Given the description of an element on the screen output the (x, y) to click on. 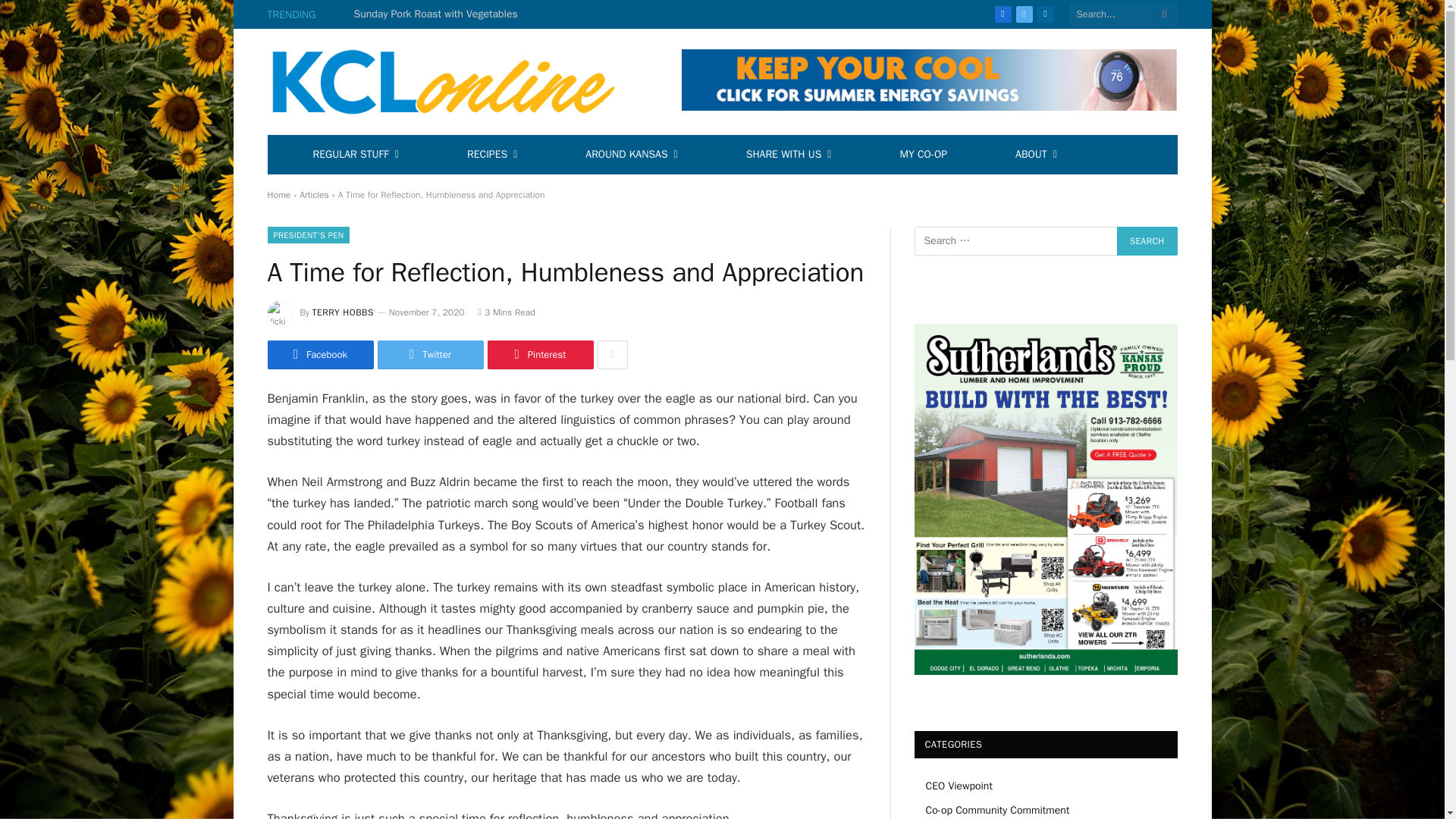
Posts by Terry Hobbs (343, 312)
Share on Pinterest (539, 354)
REGULAR STUFF (356, 154)
Show More Social Sharing (611, 354)
Kansas Country Living Magazine (452, 81)
RECIPES (491, 154)
LinkedIn (1045, 13)
Share on Facebook (319, 354)
AROUND KANSAS (631, 154)
Sunday Pork Roast with Vegetables (439, 14)
